Given the description of an element on the screen output the (x, y) to click on. 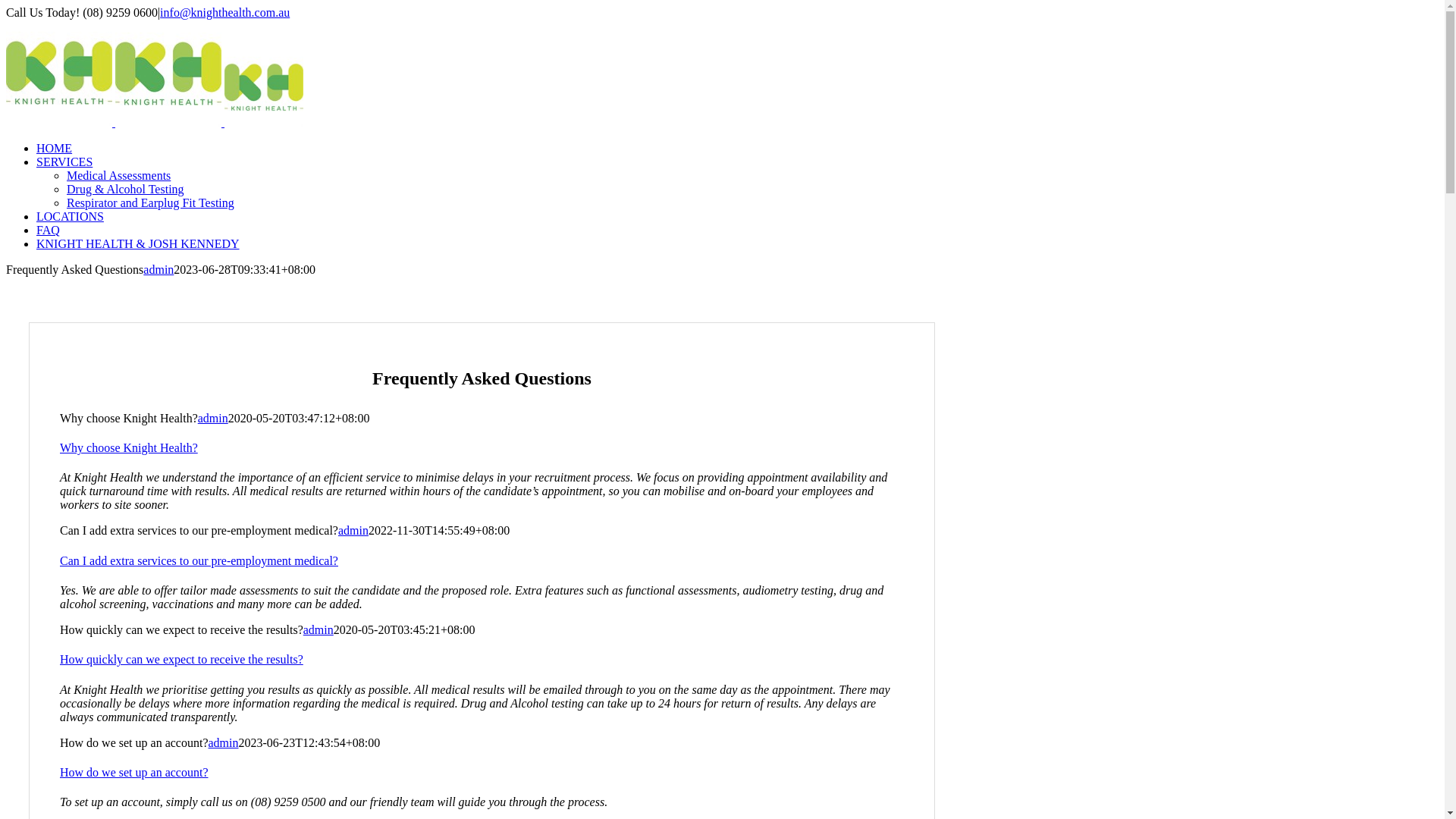
Can I add extra services to our pre-employment medical? Element type: text (481, 560)
admin Element type: text (353, 530)
Skip to content Element type: text (5, 5)
KNIGHT HEALTH & JOSH KENNEDY Element type: text (137, 243)
LOCATIONS Element type: text (69, 216)
How do we set up an account? Element type: text (481, 772)
HOME Element type: text (54, 147)
info@knighthealth.com.au Element type: text (224, 12)
admin Element type: text (158, 269)
admin Element type: text (318, 629)
How quickly can we expect to receive the results? Element type: text (481, 659)
Why choose Knight Health? Element type: text (481, 448)
admin Element type: text (212, 417)
SERVICES Element type: text (64, 161)
Respirator and Earplug Fit Testing Element type: text (150, 202)
Drug & Alcohol Testing Element type: text (125, 188)
FAQ Element type: text (47, 229)
Medical Assessments Element type: text (118, 175)
admin Element type: text (222, 741)
